Given the description of an element on the screen output the (x, y) to click on. 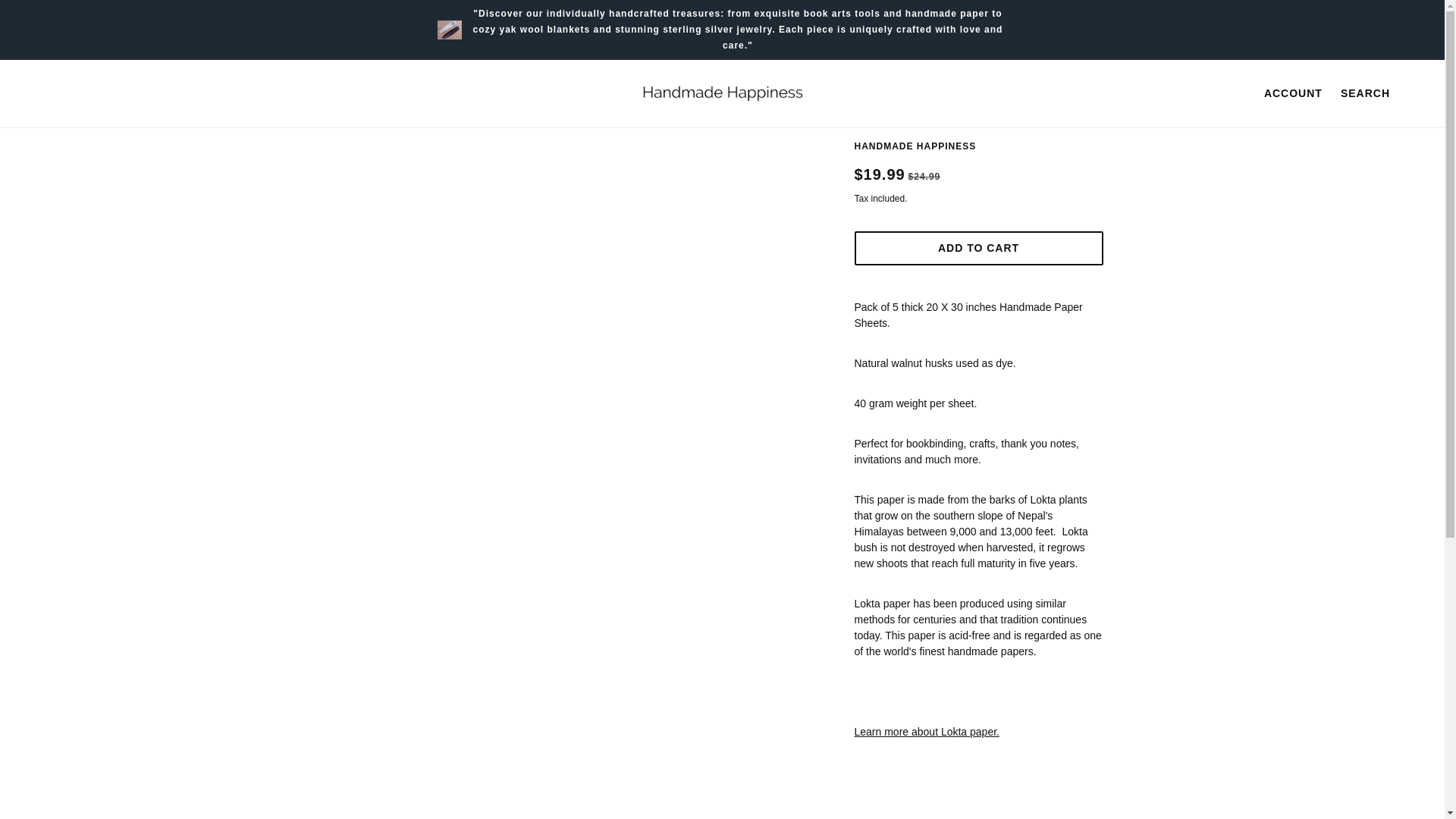
HANDMADE HAPPINESS (914, 145)
Learn more about Lokta paper. (925, 730)
ACCOUNT (1292, 92)
SEARCH (1365, 92)
handmadehappinessnepal (722, 92)
ADD TO CART (977, 247)
